Given the description of an element on the screen output the (x, y) to click on. 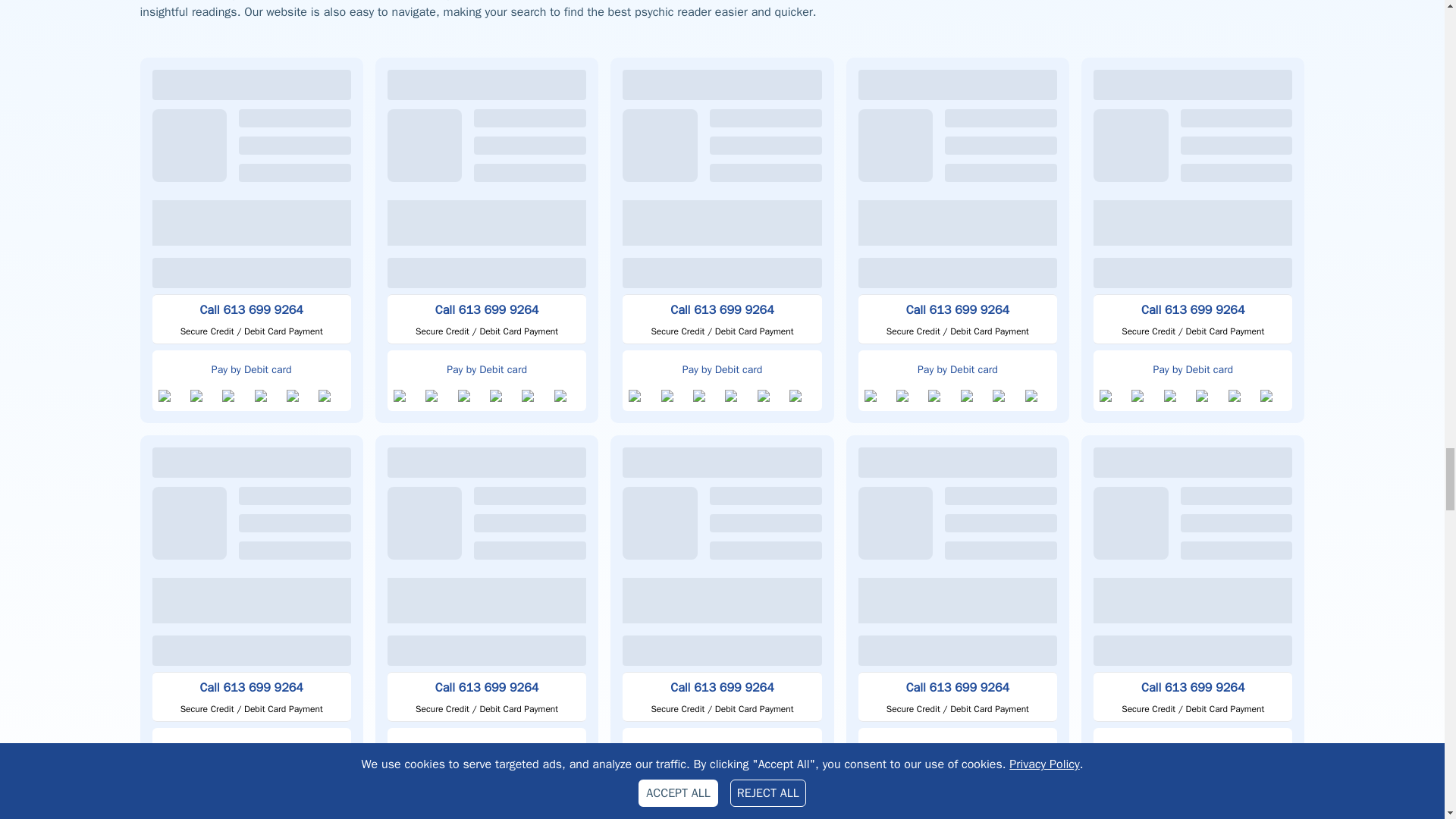
Pay by Debit card (486, 367)
Pay by Debit card (250, 744)
Pay by Debit card (250, 367)
Pay by Debit card (958, 367)
Pay by Debit card (1192, 367)
Pay by Debit card (722, 367)
